Given the description of an element on the screen output the (x, y) to click on. 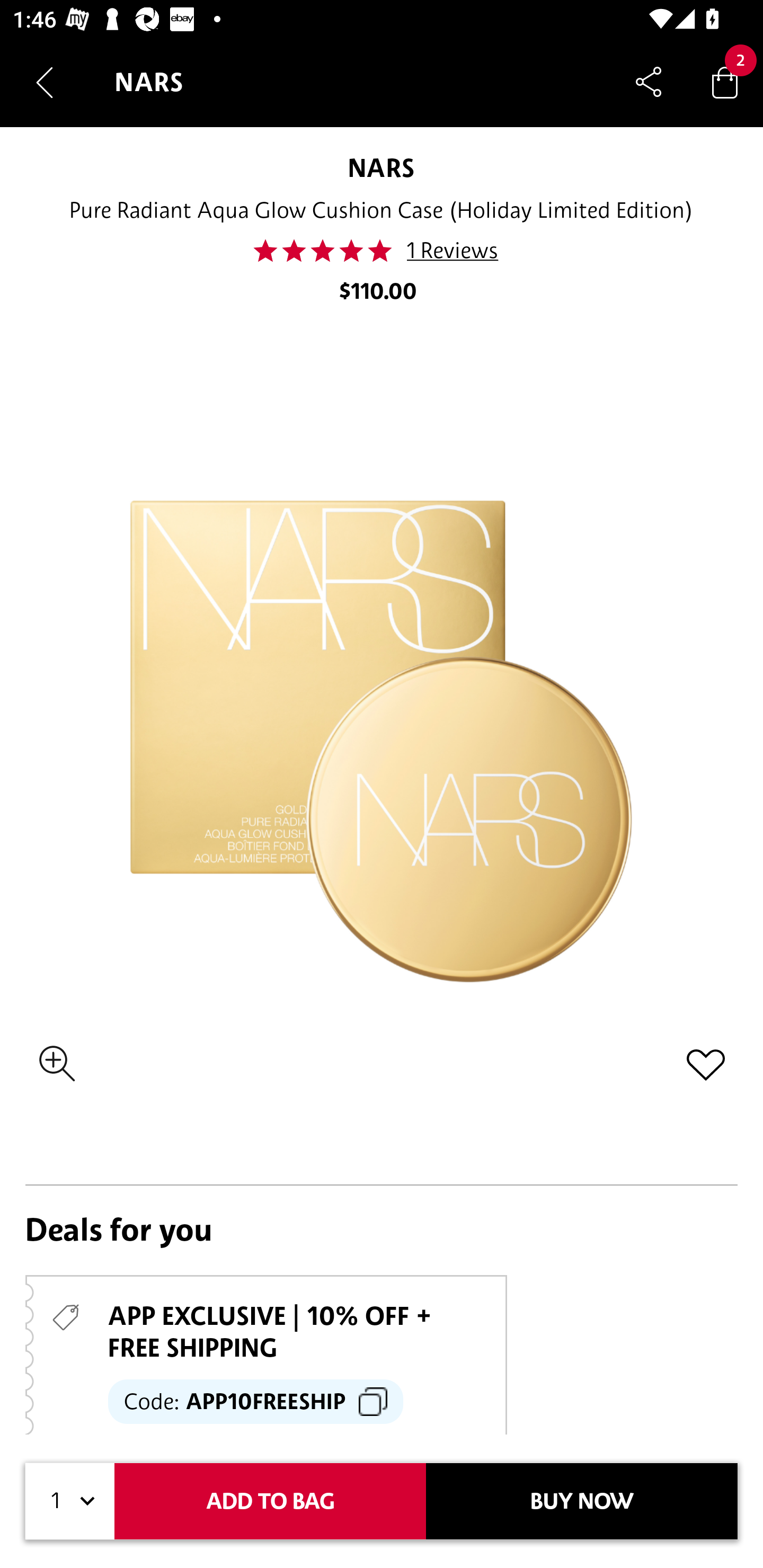
Navigate up (44, 82)
Share (648, 81)
Bag (724, 81)
NARS (380, 167)
50.0 1 Reviews (381, 250)
1 (69, 1500)
ADD TO BAG (269, 1500)
BUY NOW (581, 1500)
